Given the description of an element on the screen output the (x, y) to click on. 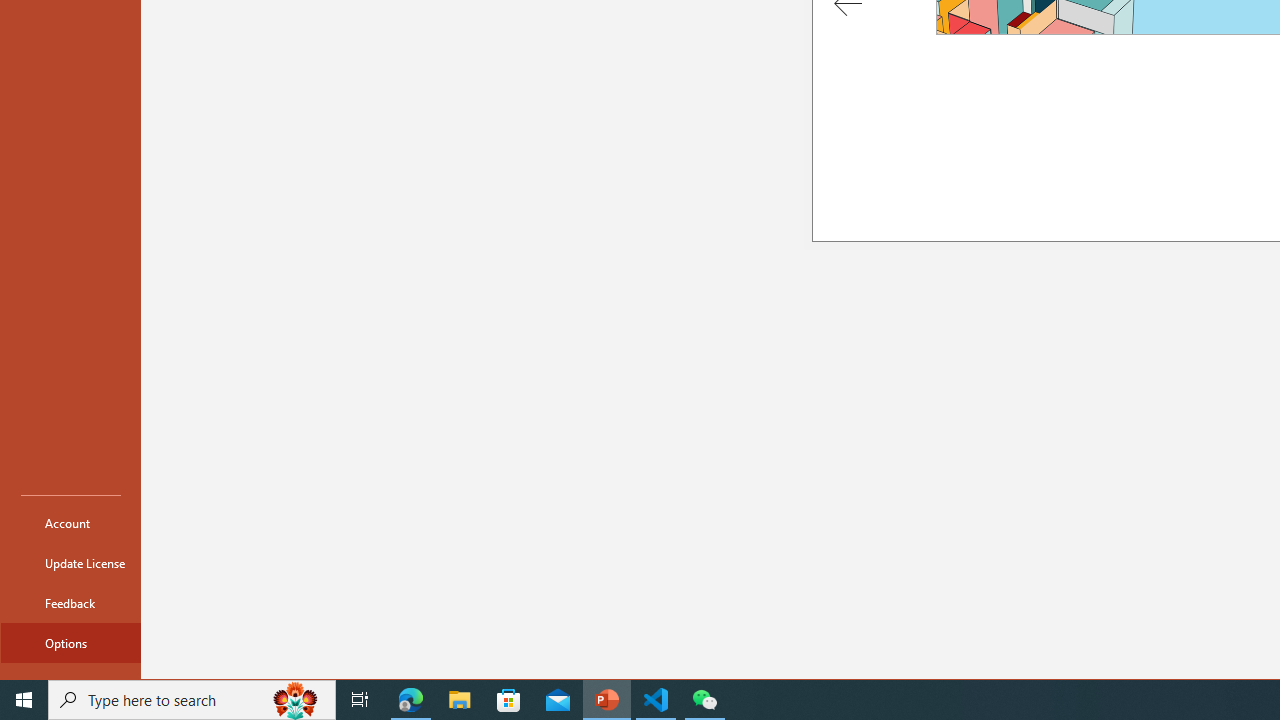
Feedback (70, 602)
Options (70, 642)
Account (70, 522)
Microsoft Edge - 1 running window (411, 699)
WeChat - 1 running window (704, 699)
Update License (70, 562)
